Given the description of an element on the screen output the (x, y) to click on. 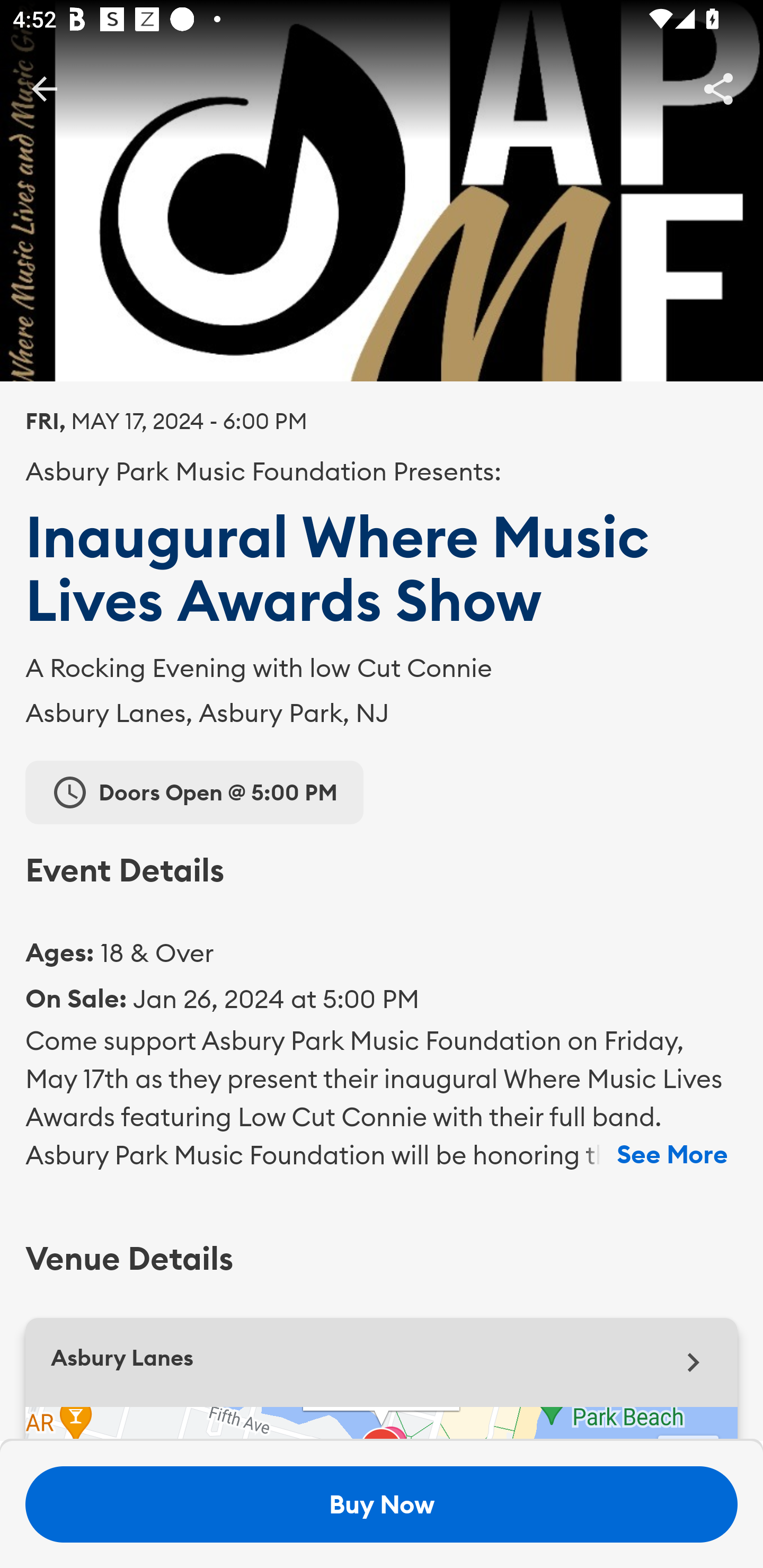
BackButton (44, 88)
Share (718, 88)
See More (671, 1154)
Asbury Lanes (381, 1362)
Buy Now (381, 1504)
